Given the description of an element on the screen output the (x, y) to click on. 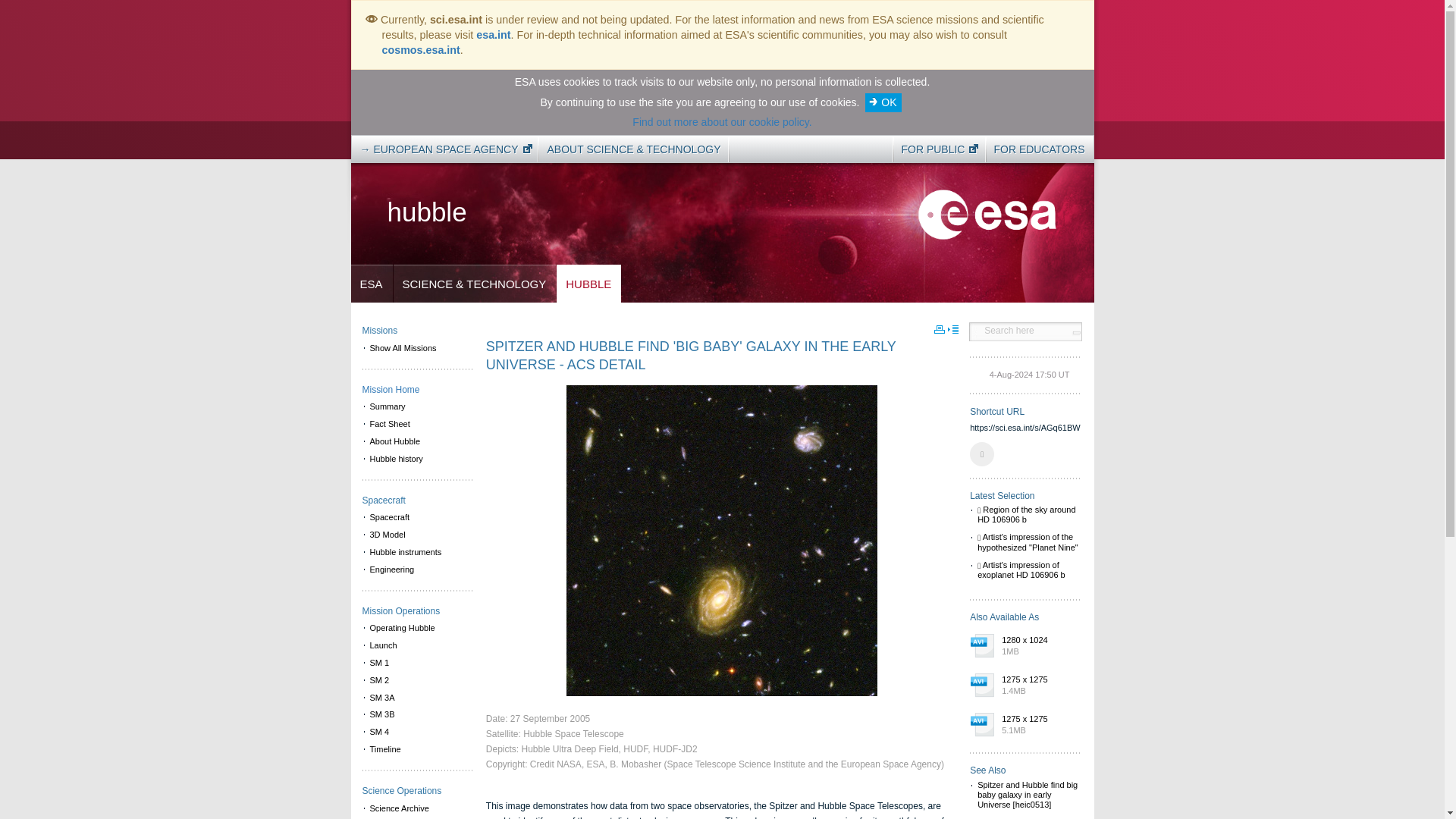
esa.int (493, 34)
FOR EDUCATORS (1039, 148)
ESA (370, 283)
FOR PUBLIC (935, 148)
OK (882, 102)
Find out more about our cookie policy. (720, 121)
cosmos.esa.int (420, 50)
